Given the description of an element on the screen output the (x, y) to click on. 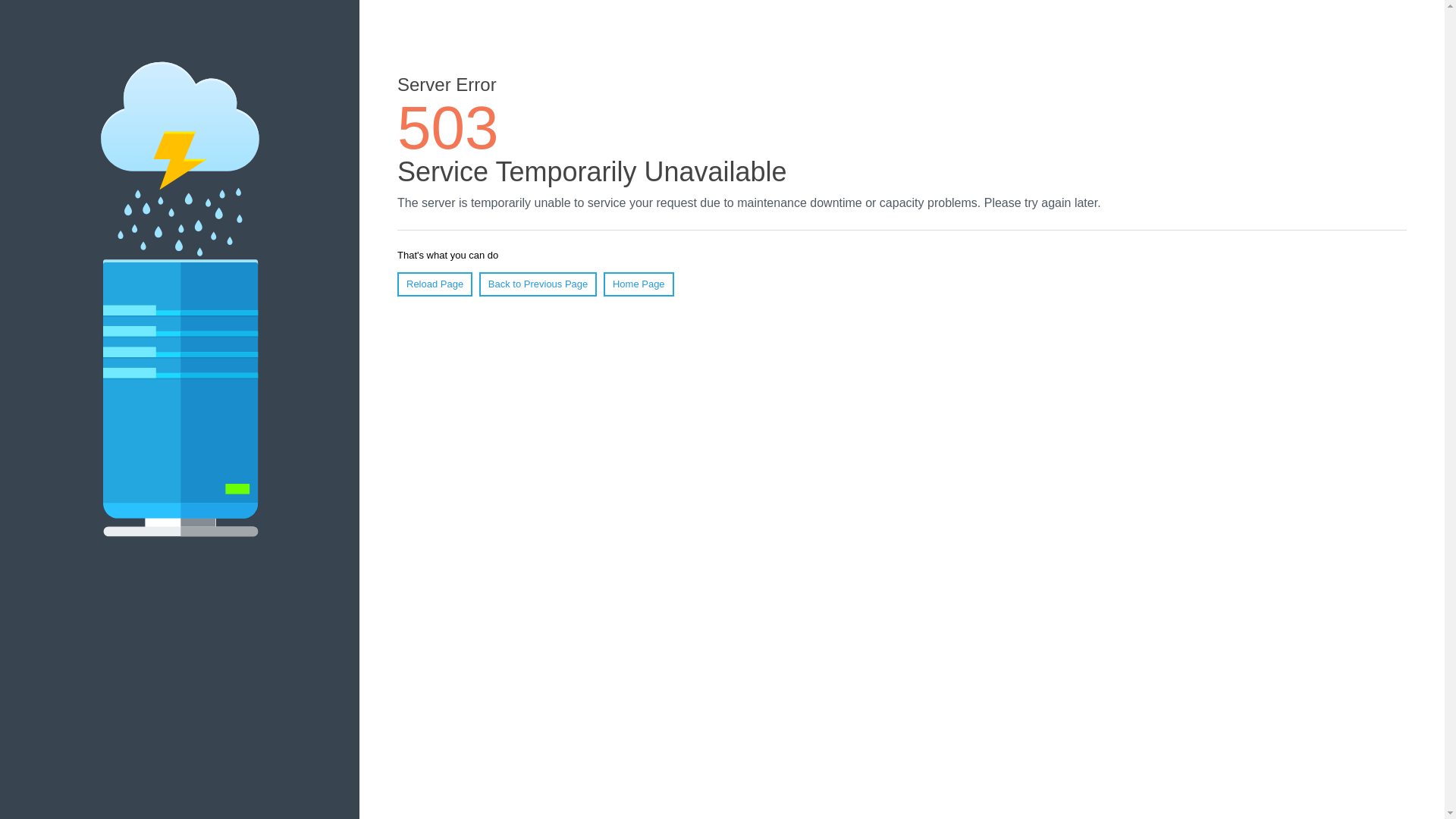
Home Page Element type: text (638, 284)
Back to Previous Page Element type: text (538, 284)
Reload Page Element type: text (434, 284)
